Given the description of an element on the screen output the (x, y) to click on. 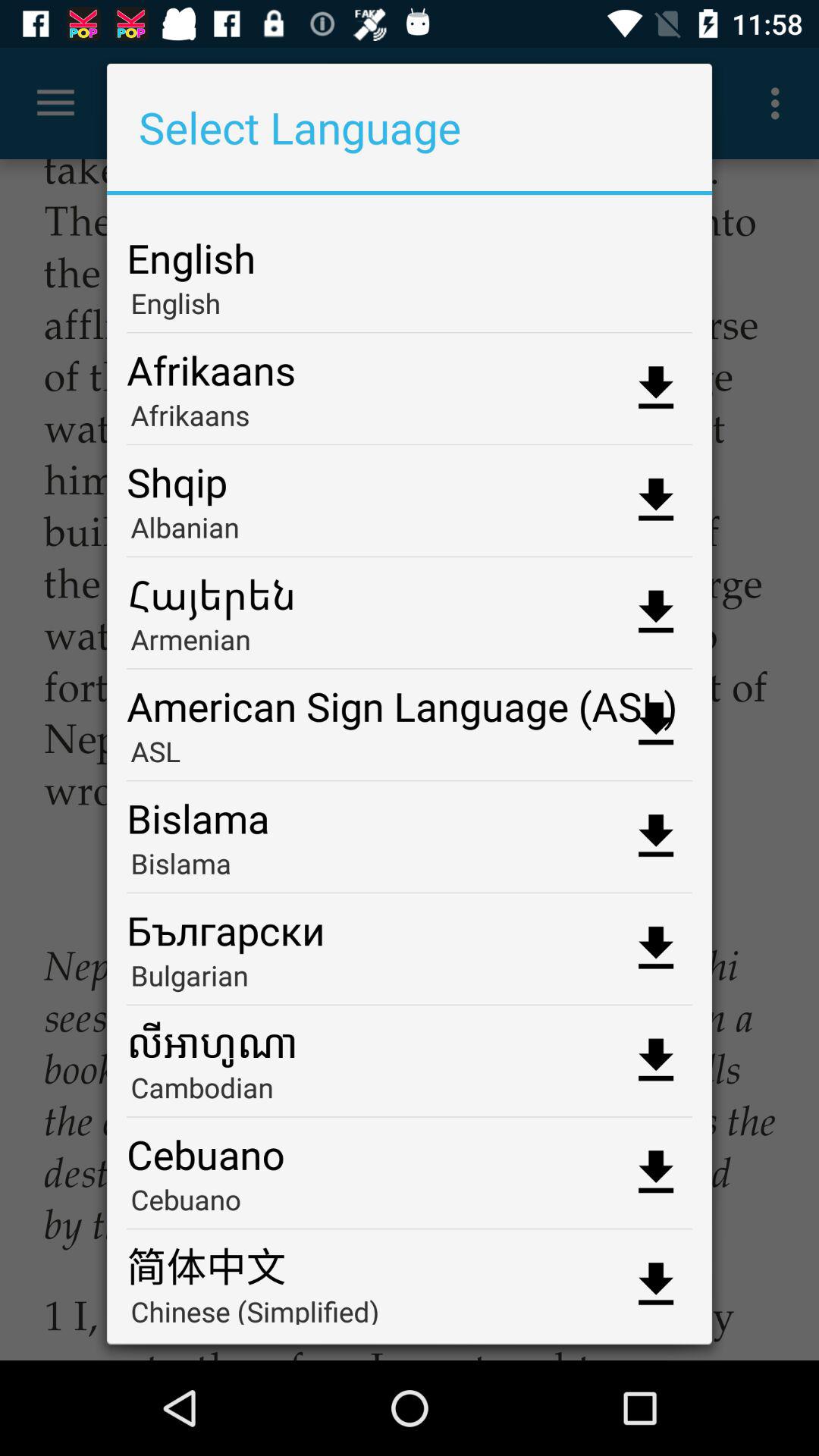
swipe until american sign language app (409, 700)
